Given the description of an element on the screen output the (x, y) to click on. 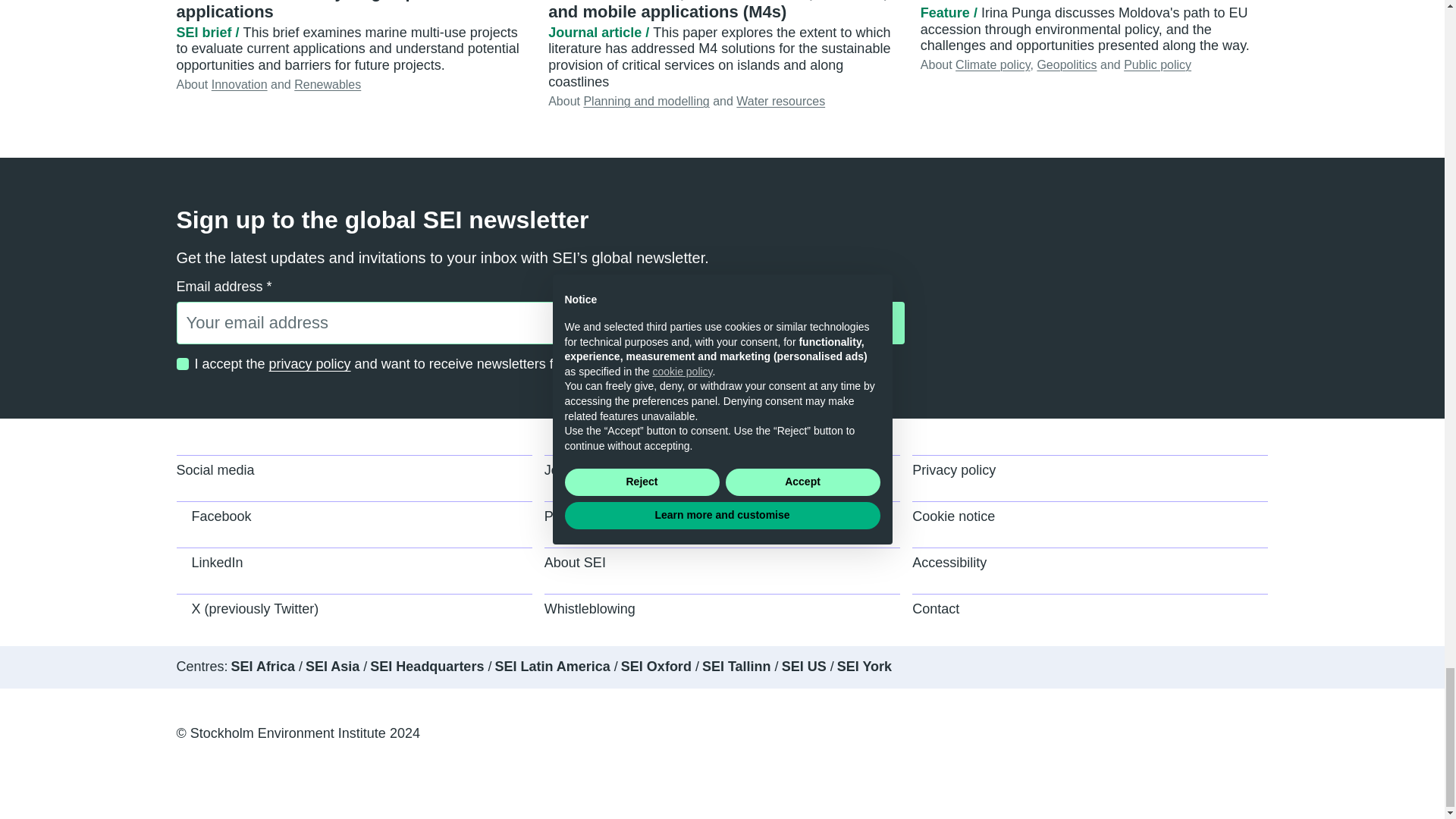
View our social media page (353, 478)
Subscribe (848, 322)
Visit SEI on Facebook (353, 524)
Visit SEI on LinkedIn (353, 570)
